Given the description of an element on the screen output the (x, y) to click on. 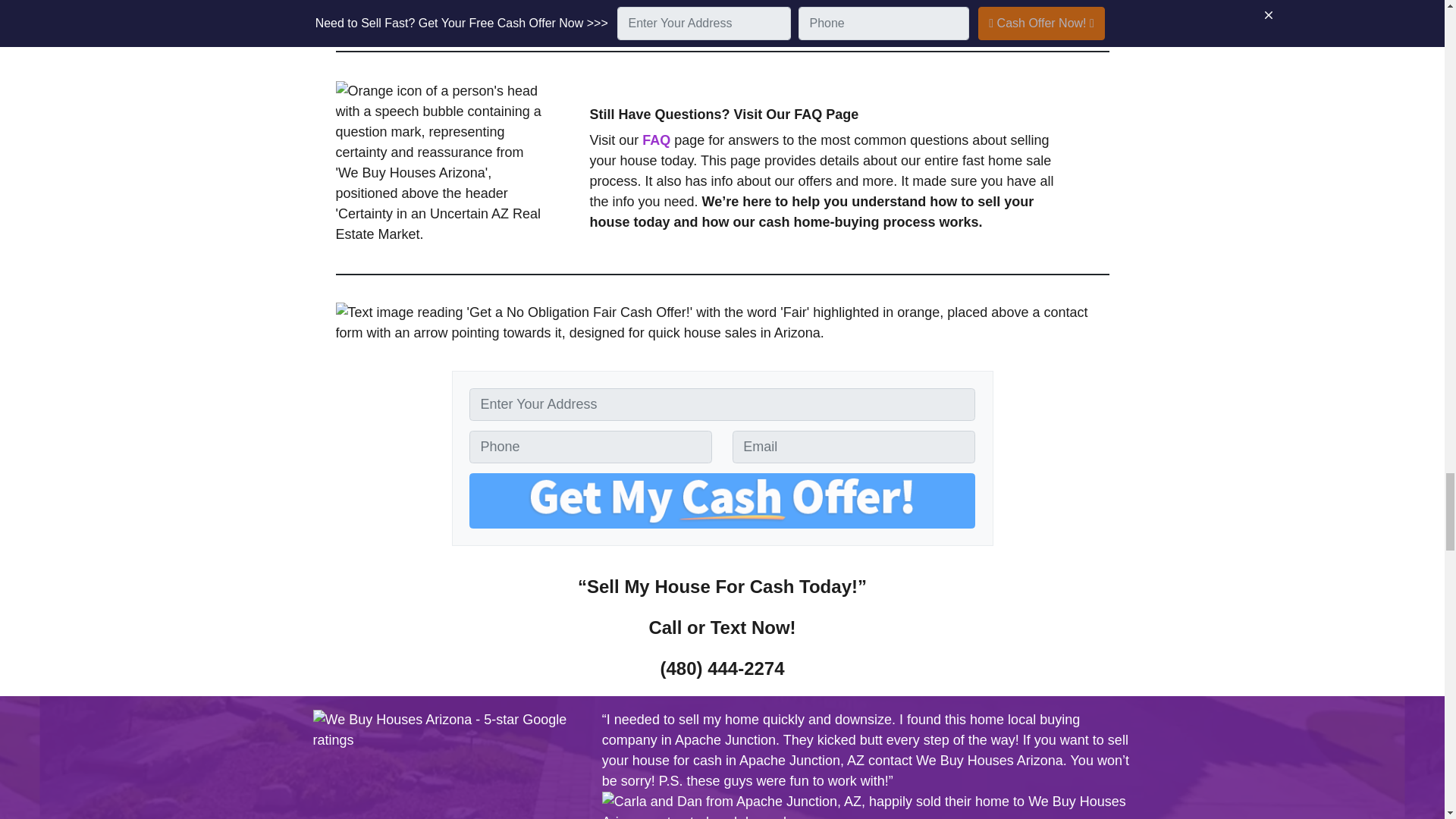
FAQ (655, 140)
